Given the description of an element on the screen output the (x, y) to click on. 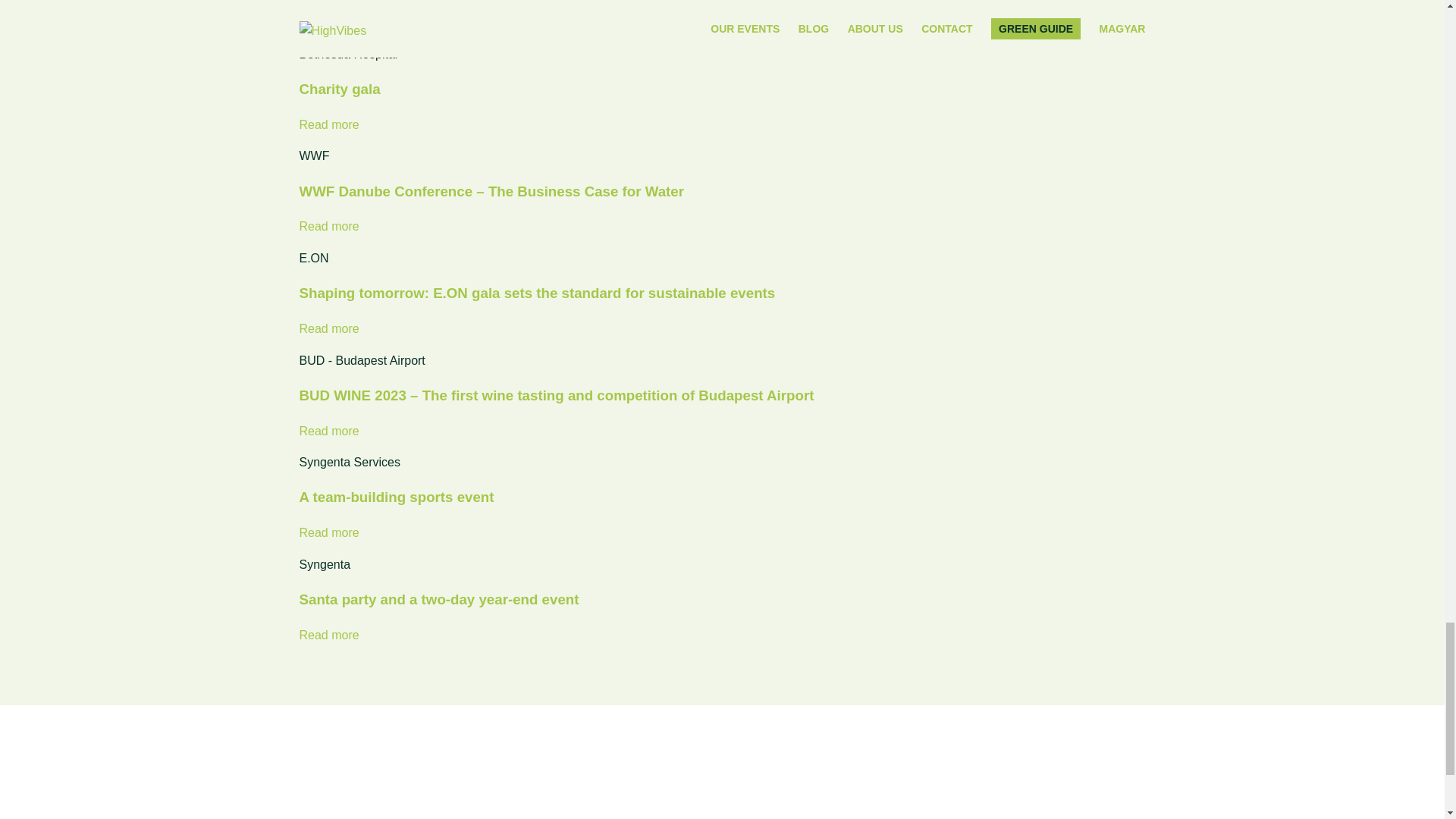
Read more (328, 431)
A team-building sports event (395, 496)
Read more (328, 226)
Read more (328, 634)
Read more (328, 328)
Santa party and a two-day year-end event (438, 599)
Charity gala (339, 89)
Read more (328, 124)
Read more (328, 532)
